Given the description of an element on the screen output the (x, y) to click on. 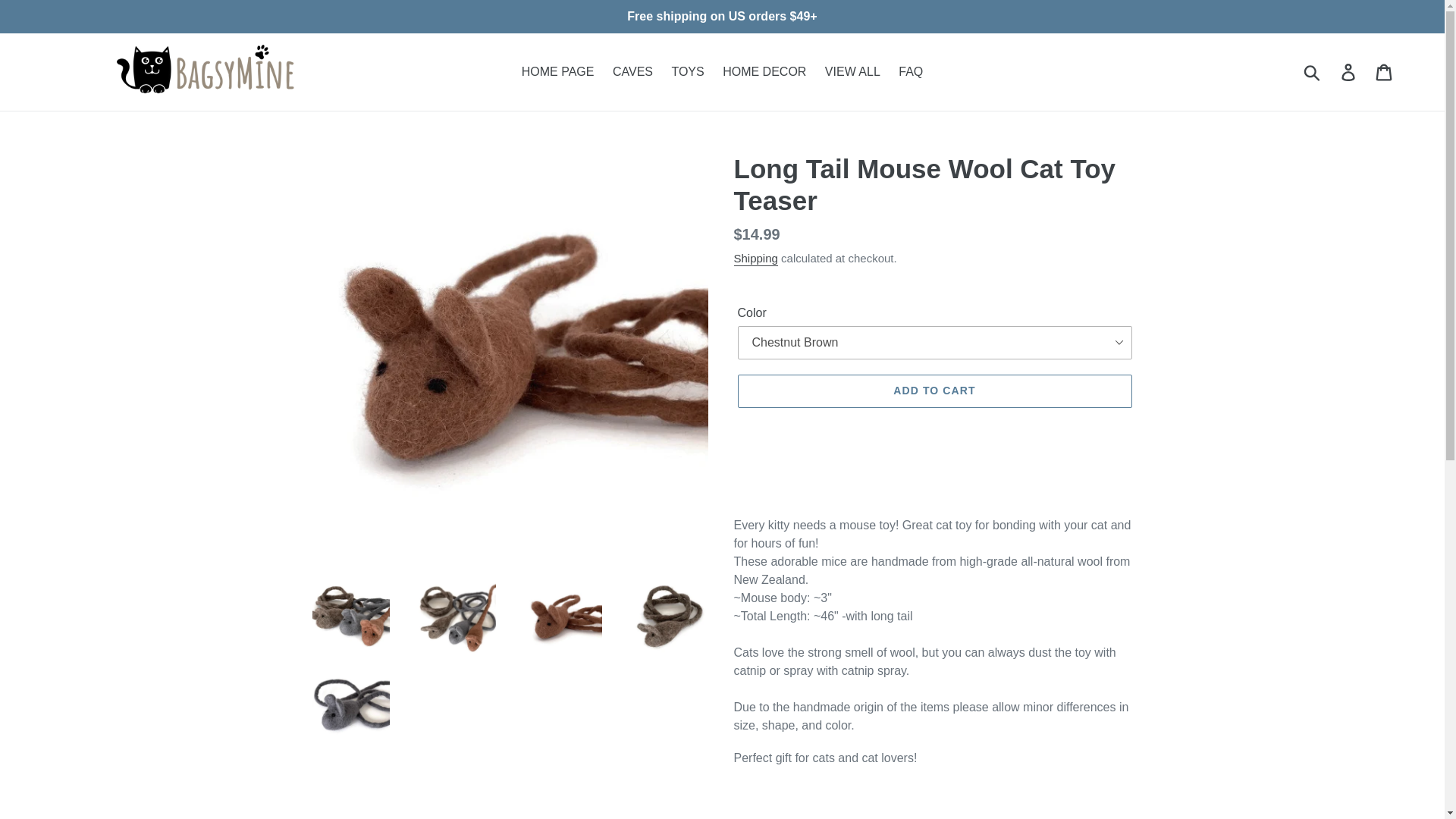
FAQ (910, 71)
CAVES (633, 71)
Cart (1385, 71)
HOME PAGE (557, 71)
VIEW ALL (852, 71)
Submit (1313, 71)
TOYS (687, 71)
Shipping (755, 258)
HOME DECOR (763, 71)
Log in (1349, 71)
